Given the description of an element on the screen output the (x, y) to click on. 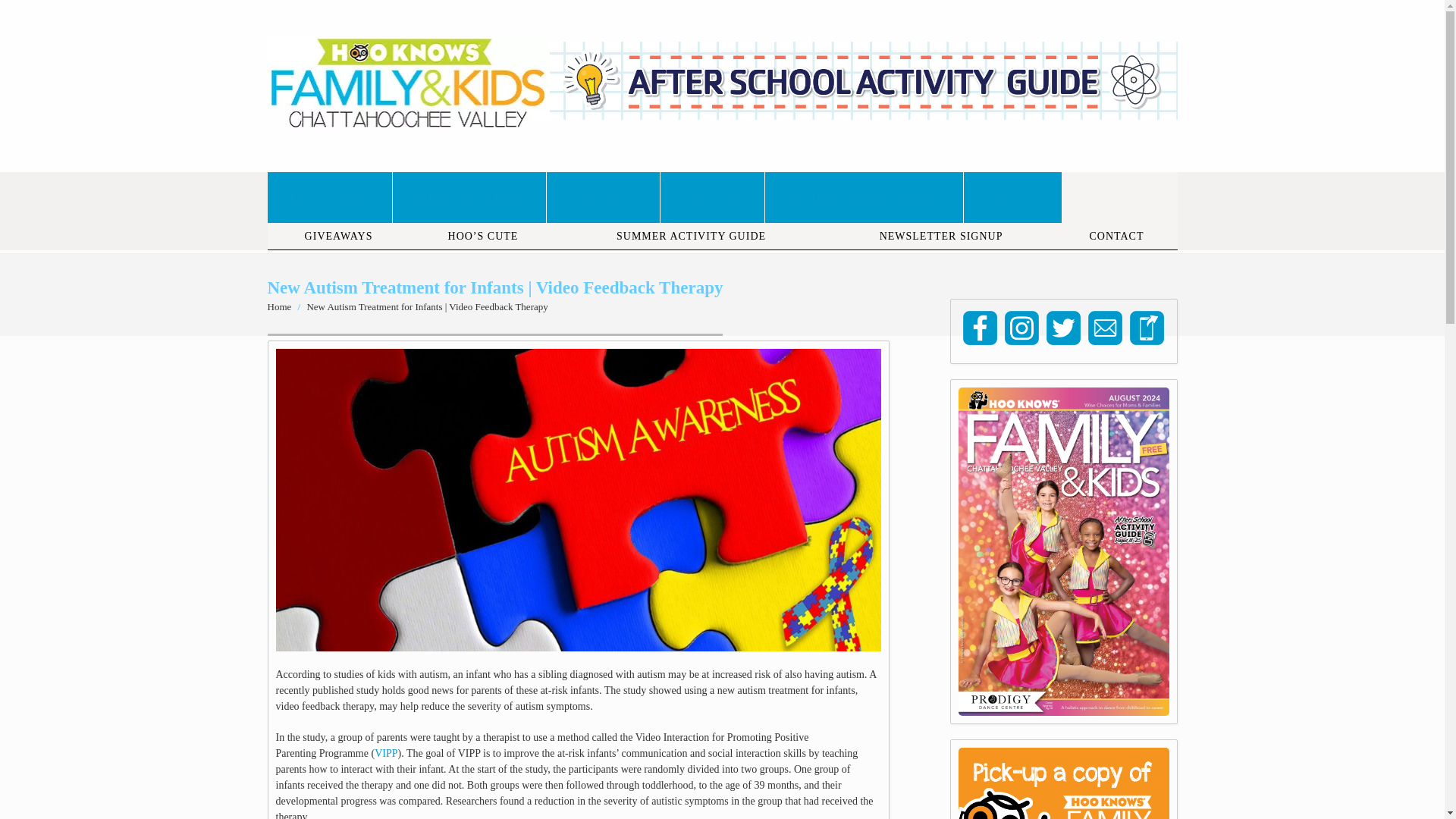
Family and Kids of The Chattahoochee Valley (278, 306)
SAVINGS (713, 196)
FEATURES (604, 196)
MAGAZINES (328, 196)
SHOPPING GUIDE (470, 196)
Family and Kids of The Chattahoochee Valley (407, 120)
